Given the description of an element on the screen output the (x, y) to click on. 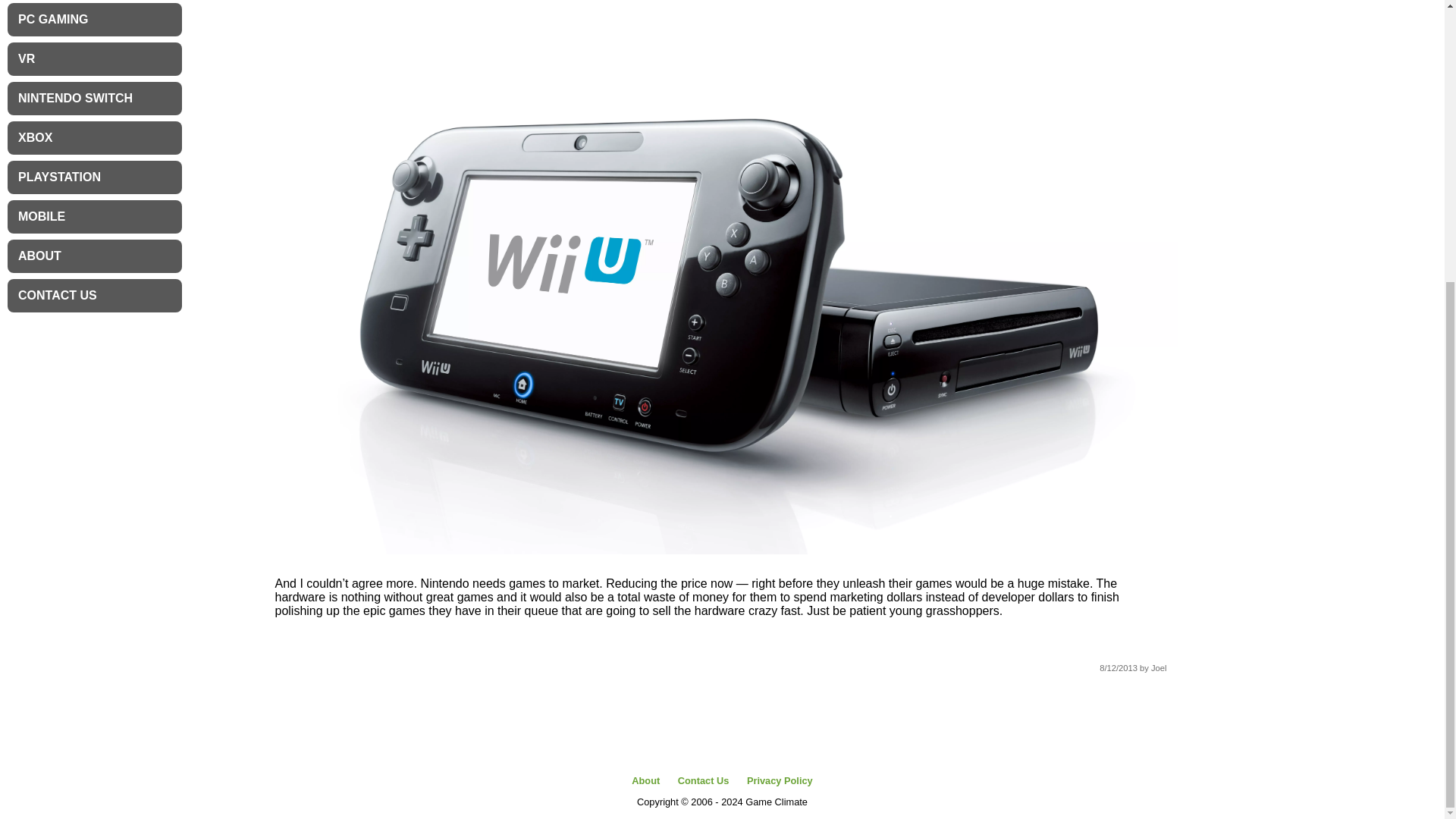
PLAYSTATION (94, 177)
VR (94, 59)
MOBILE (94, 216)
Privacy Policy (779, 780)
About (645, 780)
PC GAMING (94, 19)
CONTACT US (94, 295)
Contact Us (703, 780)
XBOX (94, 137)
ABOUT (94, 255)
NINTENDO SWITCH (94, 98)
